Given the description of an element on the screen output the (x, y) to click on. 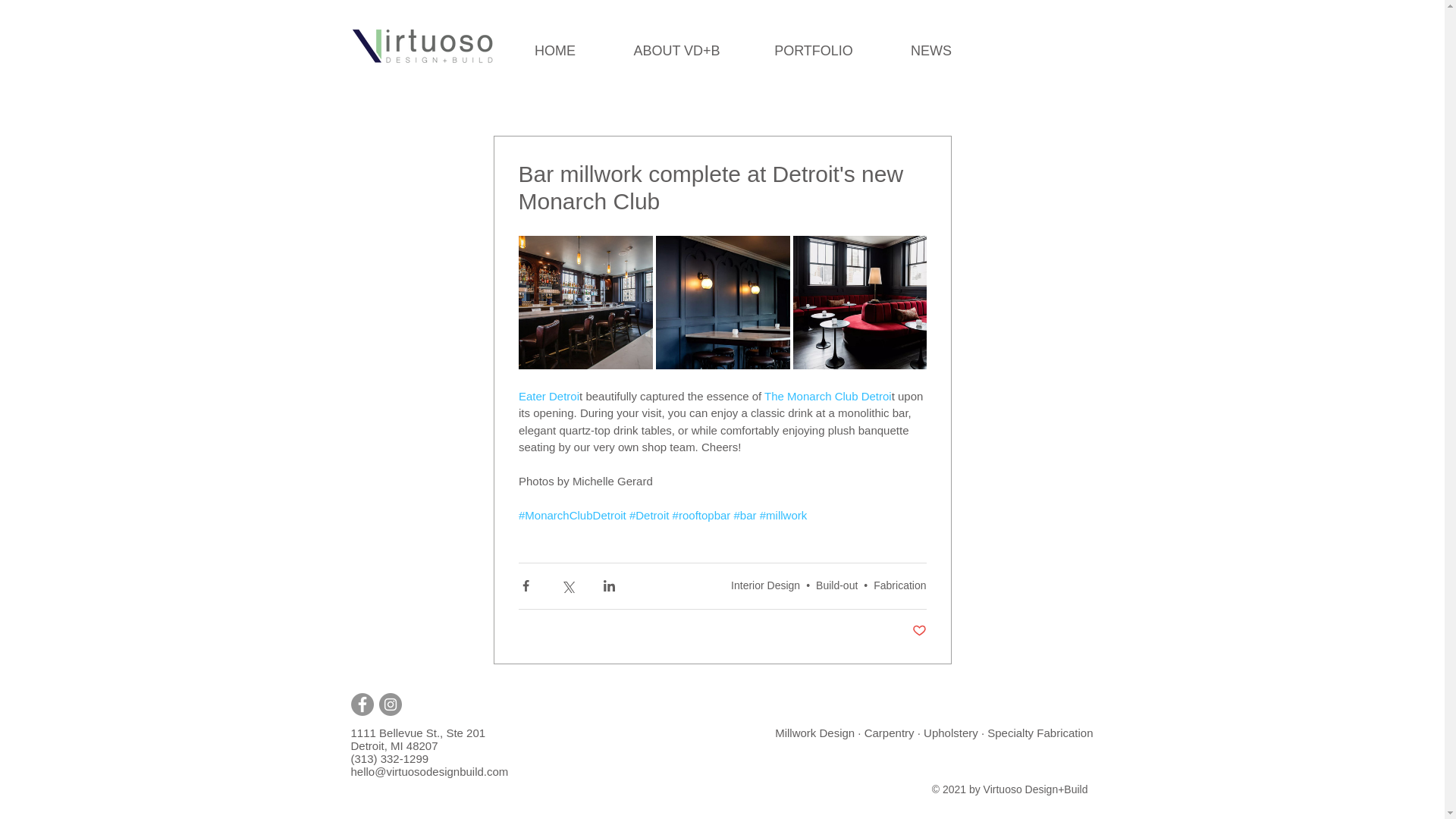
Fabrication (899, 585)
Post not marked as liked (918, 631)
Eater Detroi (548, 395)
NEWS (930, 50)
Build-out (836, 585)
PORTFOLIO (814, 50)
Interior Design (764, 585)
 The Monarch Club Detroi (826, 395)
HOME (554, 50)
